Given the description of an element on the screen output the (x, y) to click on. 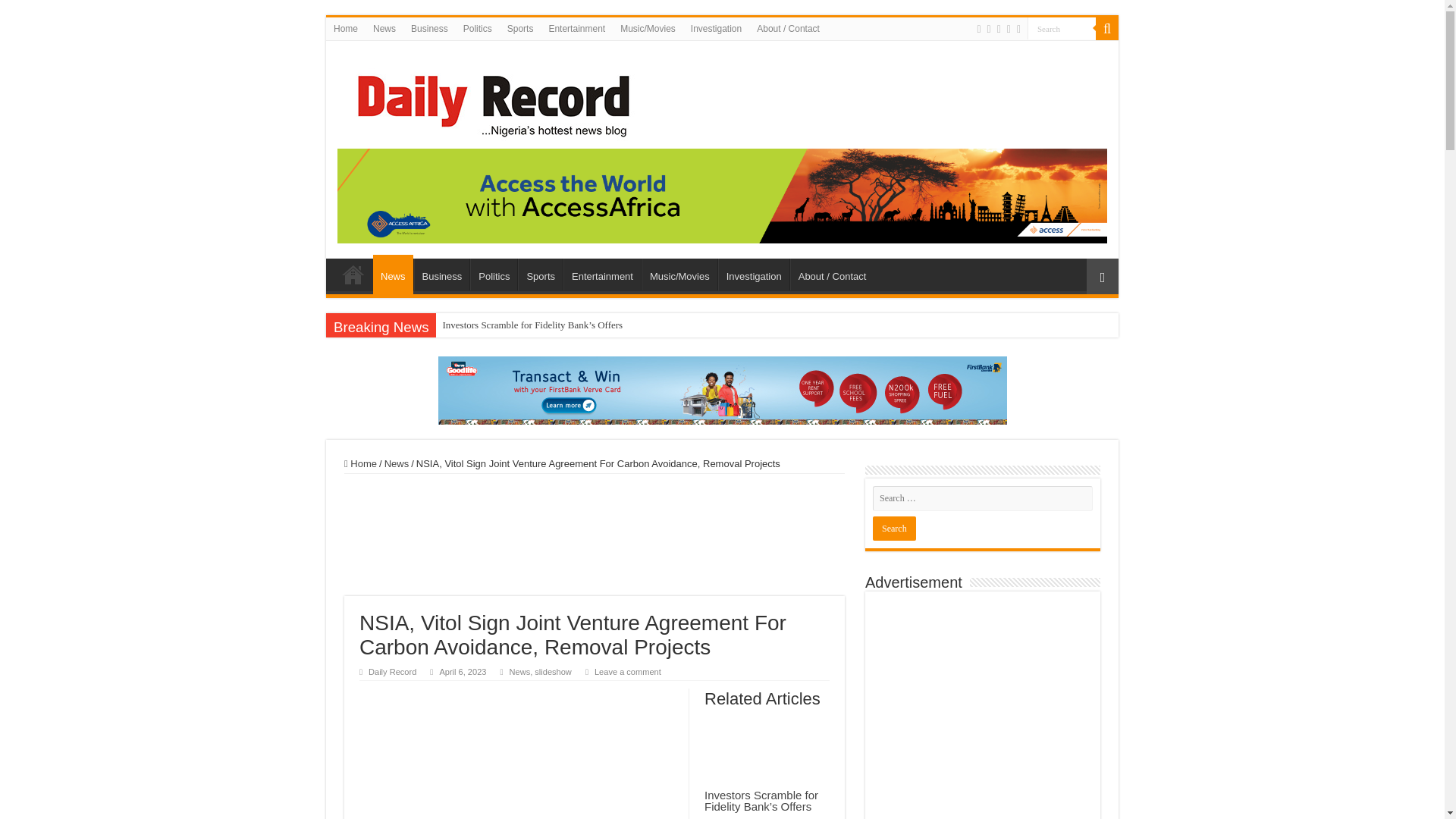
Search (1061, 28)
Entertainment (601, 274)
Access Bank (721, 194)
Random Article (1102, 276)
Politics (477, 28)
Business (429, 28)
Investigation (753, 274)
Business (441, 274)
Home (345, 28)
Sports (540, 274)
